Given the description of an element on the screen output the (x, y) to click on. 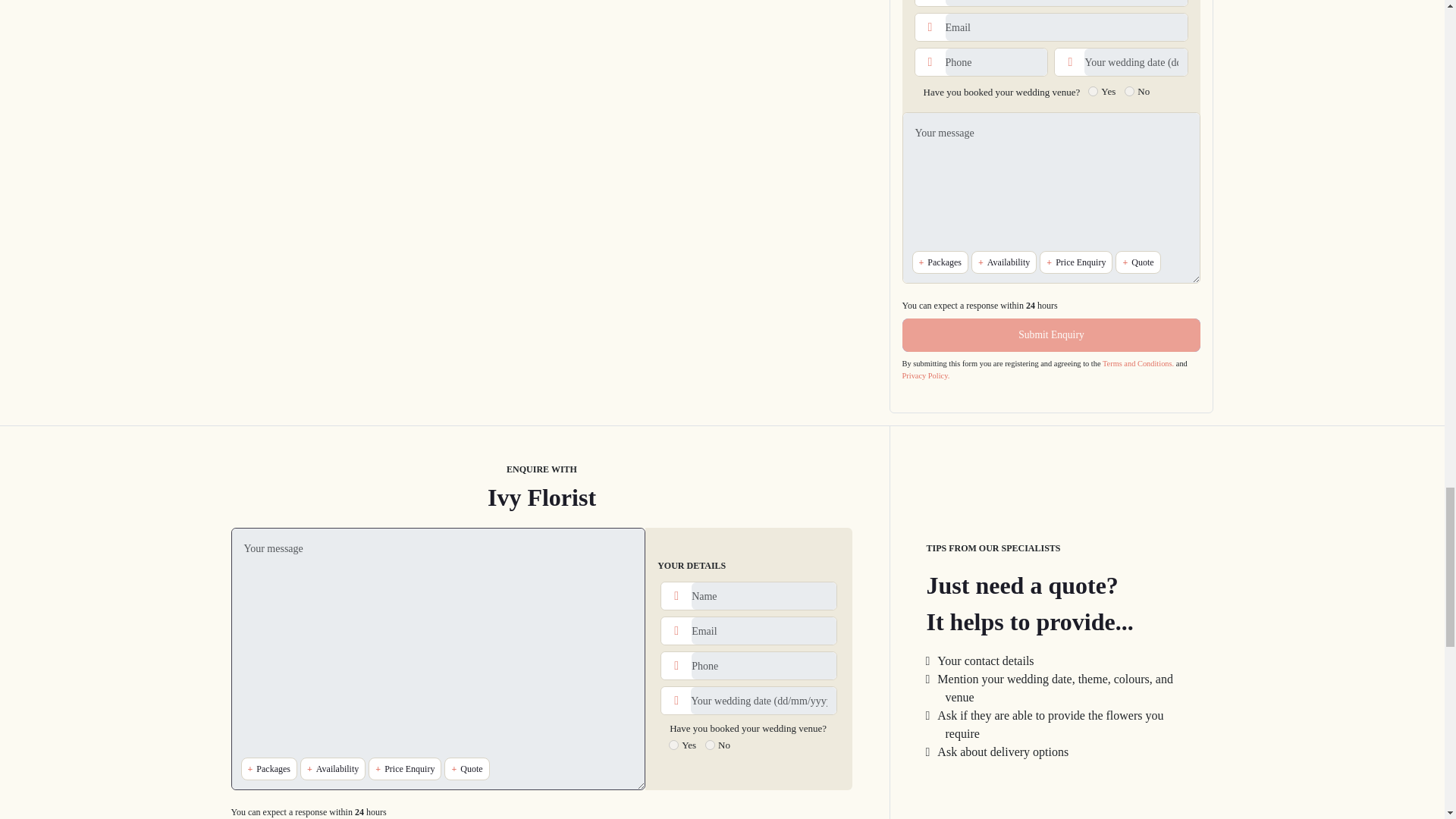
No (709, 745)
Yes (673, 745)
